Given the description of an element on the screen output the (x, y) to click on. 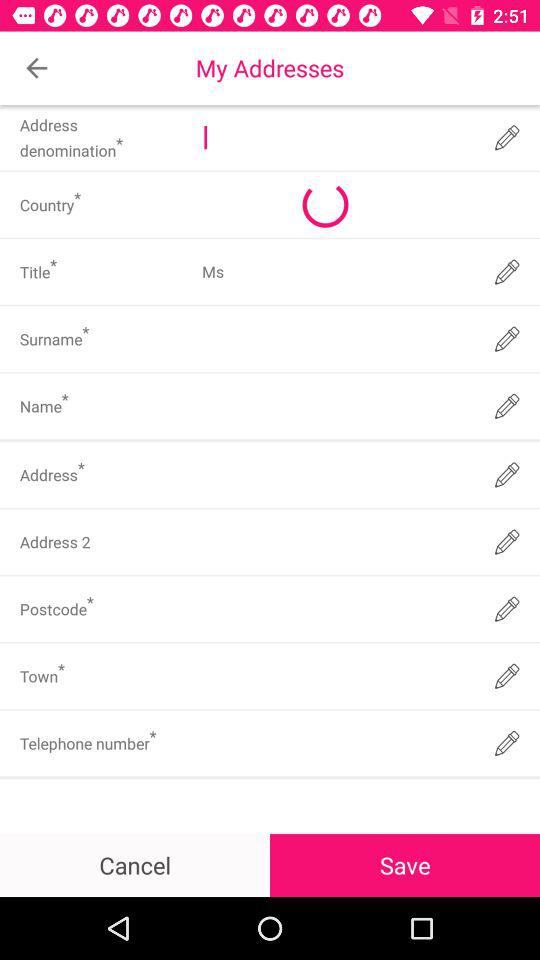
add phone number (335, 743)
